Given the description of an element on the screen output the (x, y) to click on. 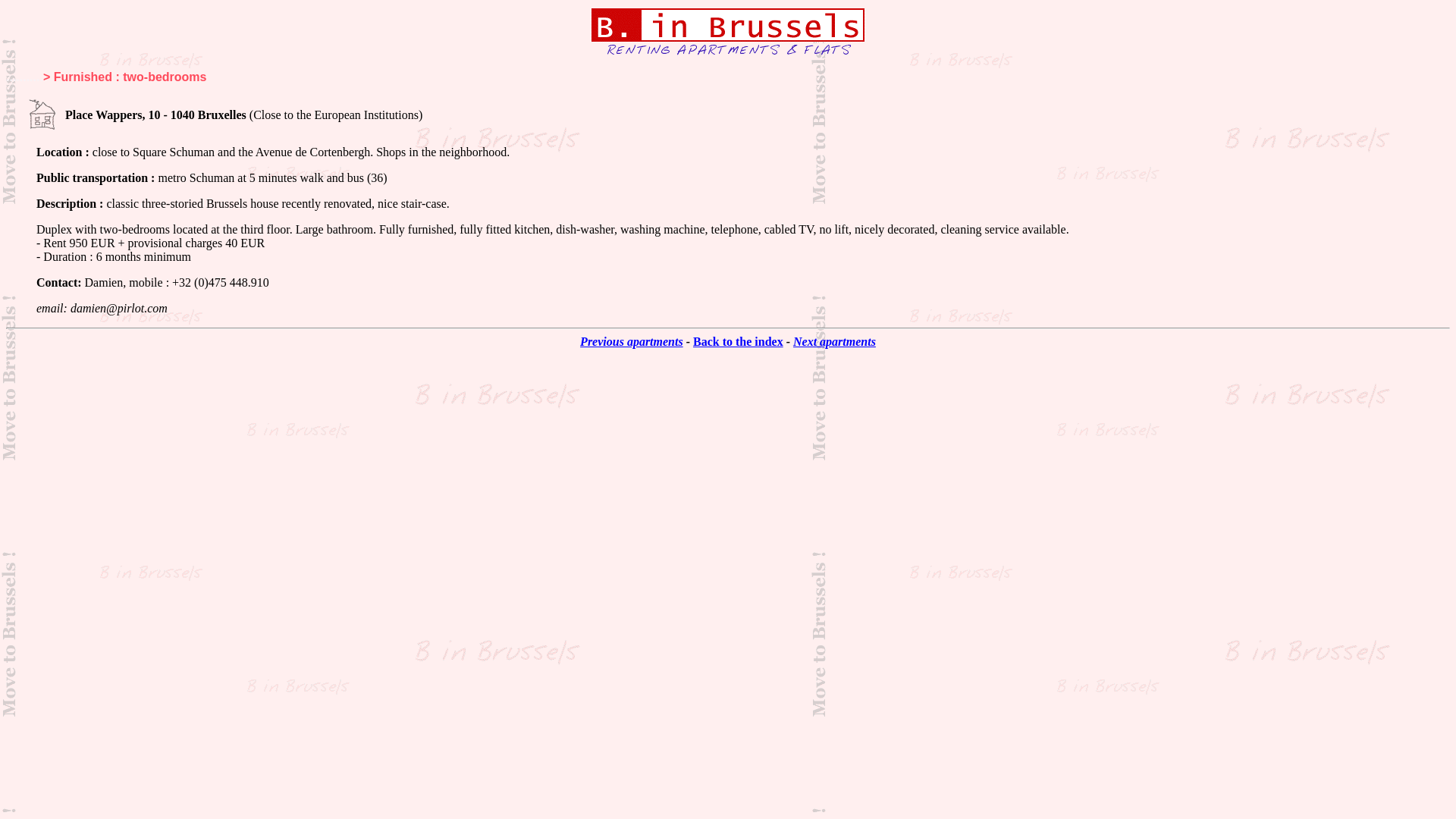
Back to the index Element type: text (738, 341)
Previous apartments Element type: text (631, 341)
Next apartments Element type: text (834, 341)
